Given the description of an element on the screen output the (x, y) to click on. 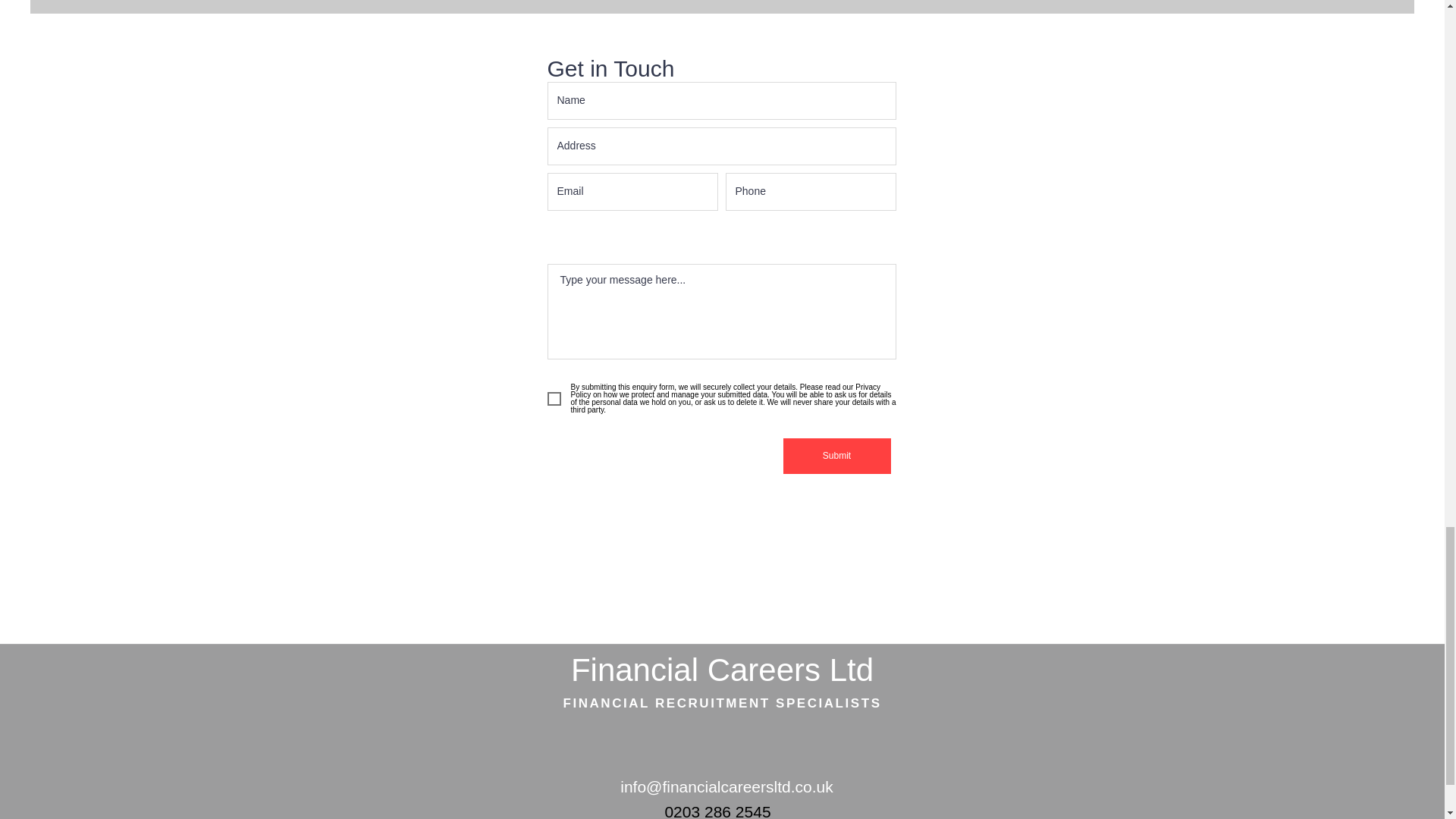
Submit (836, 456)
